Given the description of an element on the screen output the (x, y) to click on. 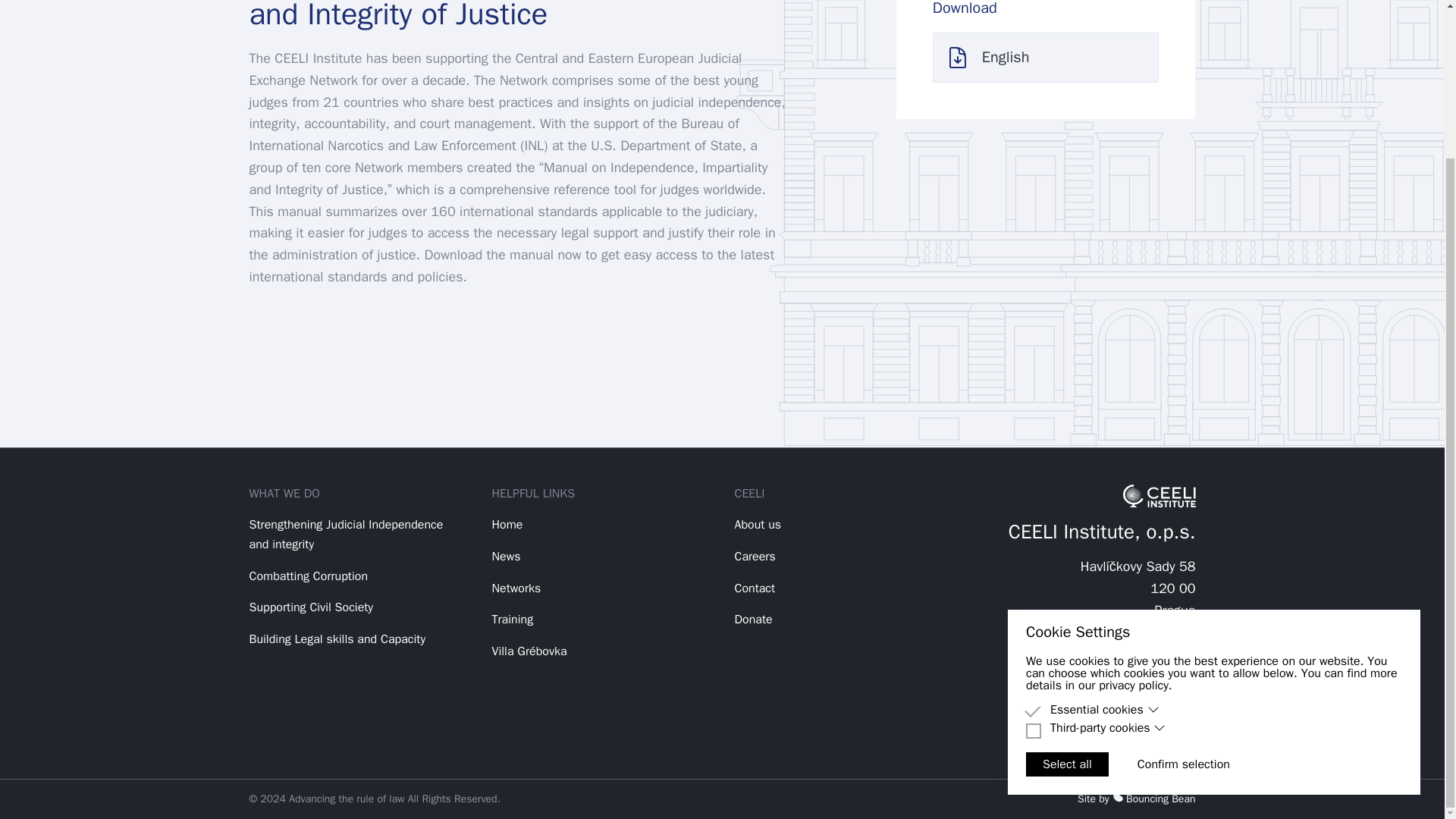
English (1045, 57)
Select all (1067, 578)
Confirm selection (1183, 578)
Strengthening Judicial Independence and integrity (345, 534)
